Given the description of an element on the screen output the (x, y) to click on. 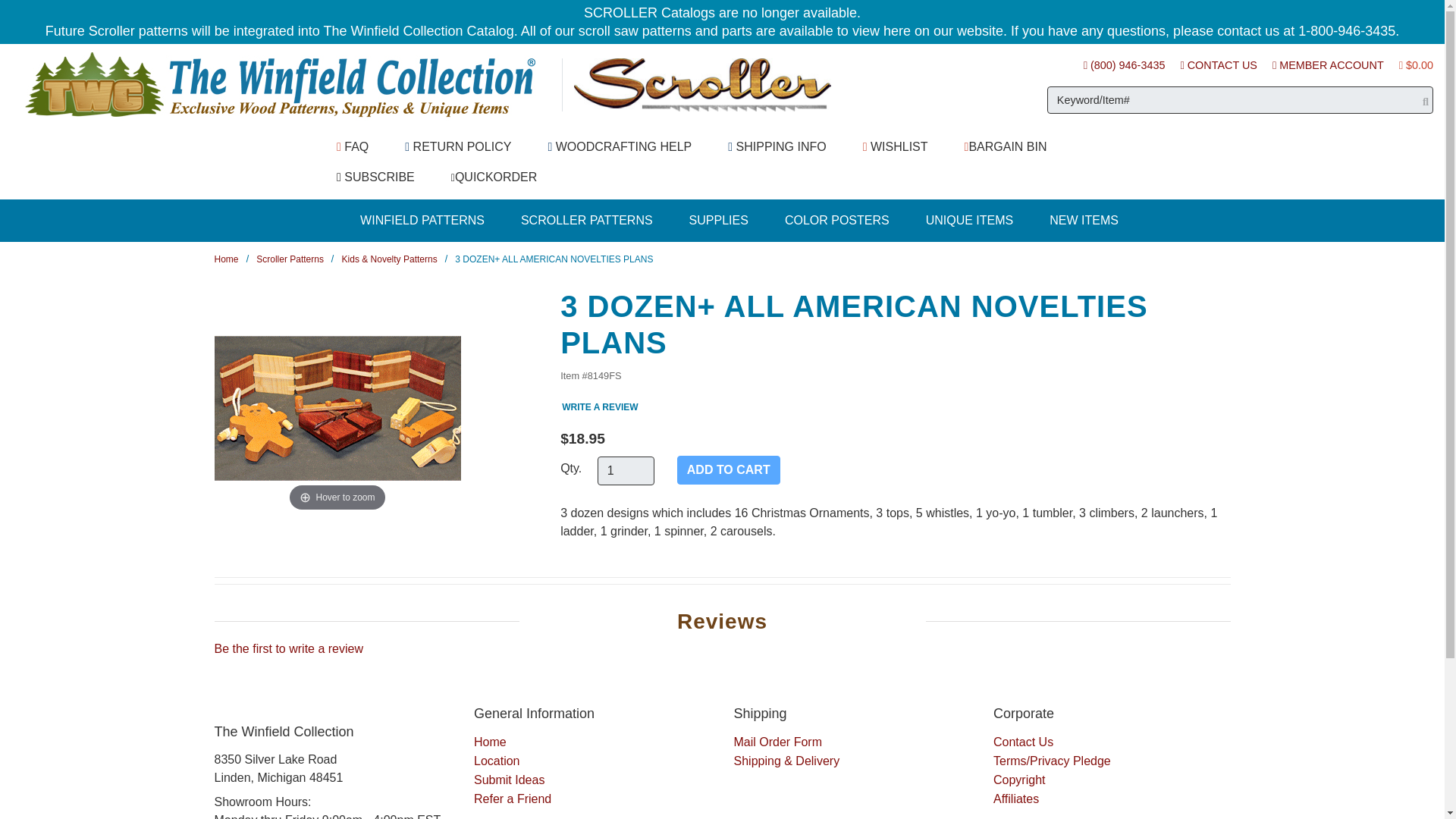
Add to Cart (728, 469)
1 (624, 470)
